Given the description of an element on the screen output the (x, y) to click on. 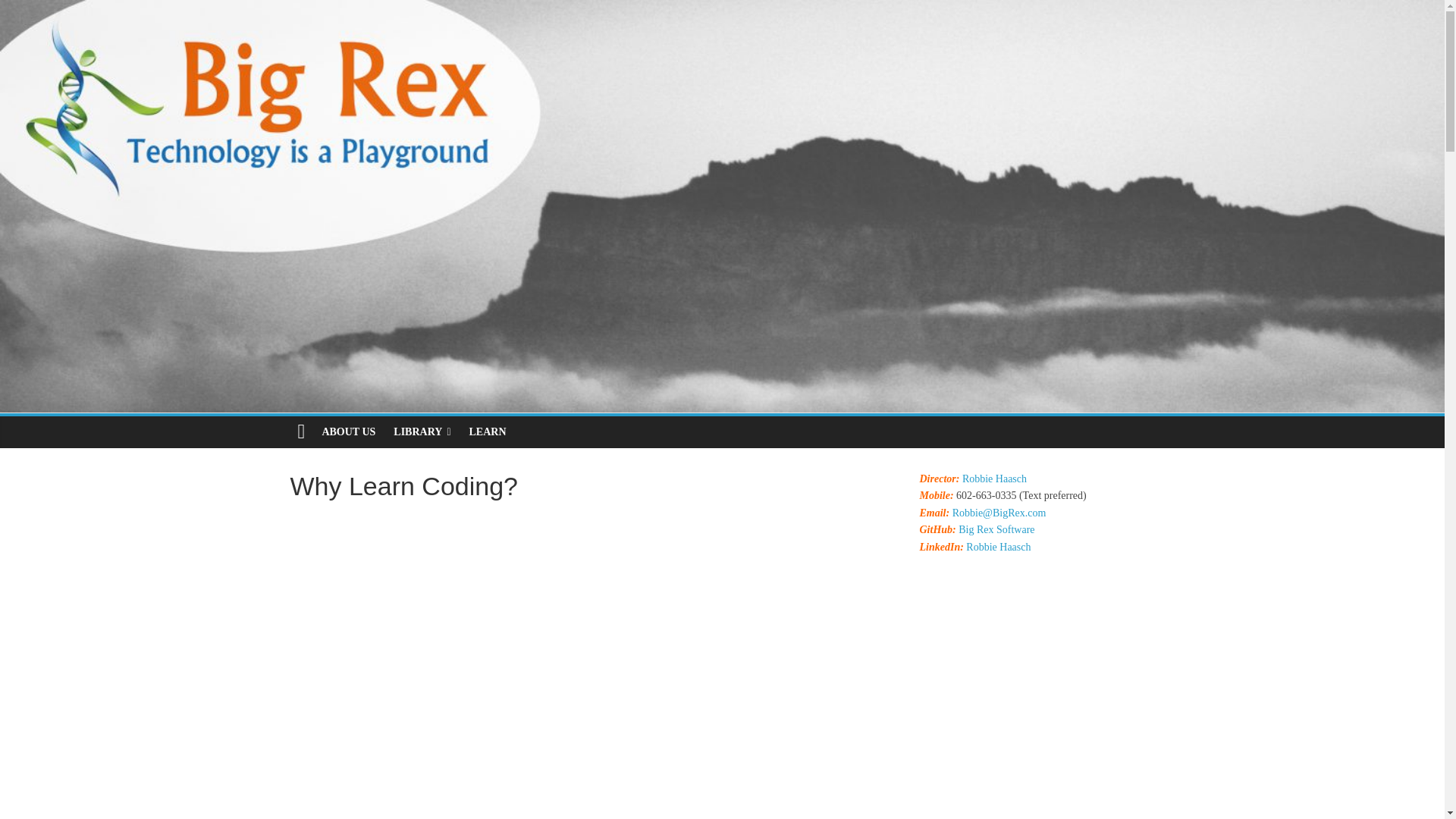
ABOUT US (348, 431)
LIBRARY (422, 431)
Robbie Haasch (998, 546)
Big Rex Software (995, 529)
LEARN (487, 431)
Robbie Haasch (994, 478)
